Given the description of an element on the screen output the (x, y) to click on. 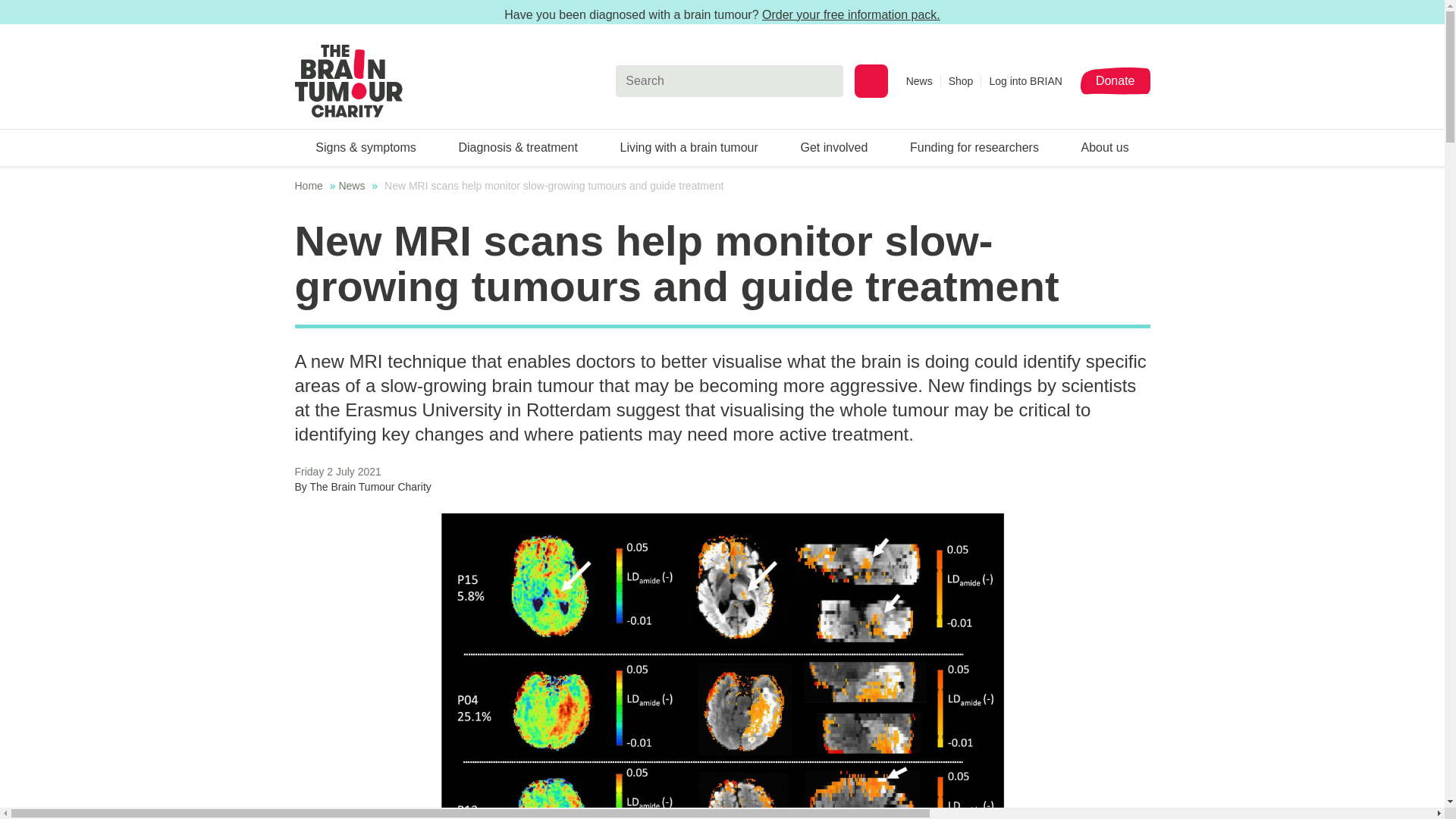
Order your free information pack. (850, 14)
News (922, 80)
Donate (1115, 81)
Shop (965, 80)
Log into BRIAN (1025, 80)
